Given the description of an element on the screen output the (x, y) to click on. 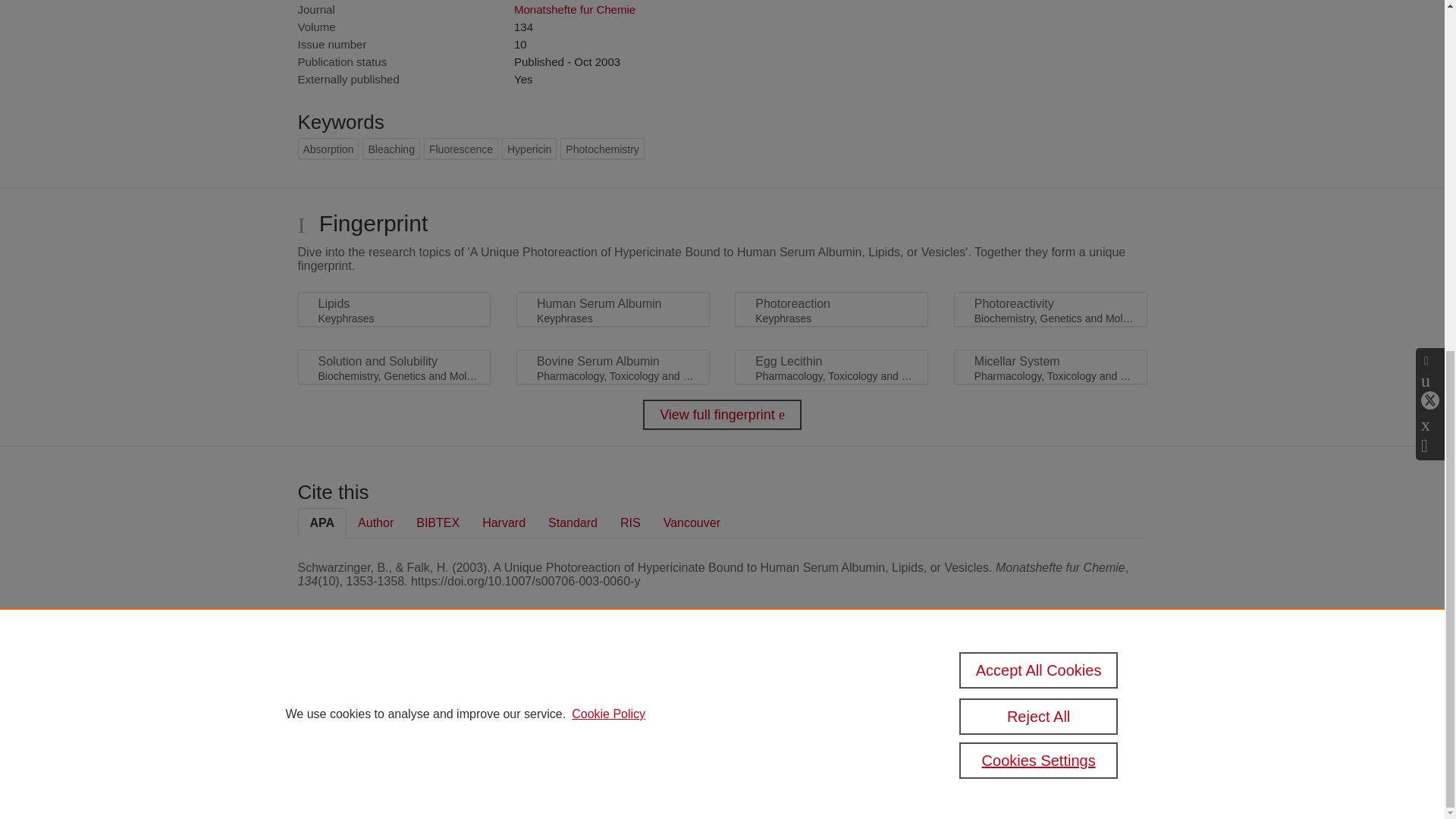
Pure (362, 686)
View full fingerprint (722, 414)
Scopus (394, 686)
Monatshefte fur Chemie (573, 9)
